Given the description of an element on the screen output the (x, y) to click on. 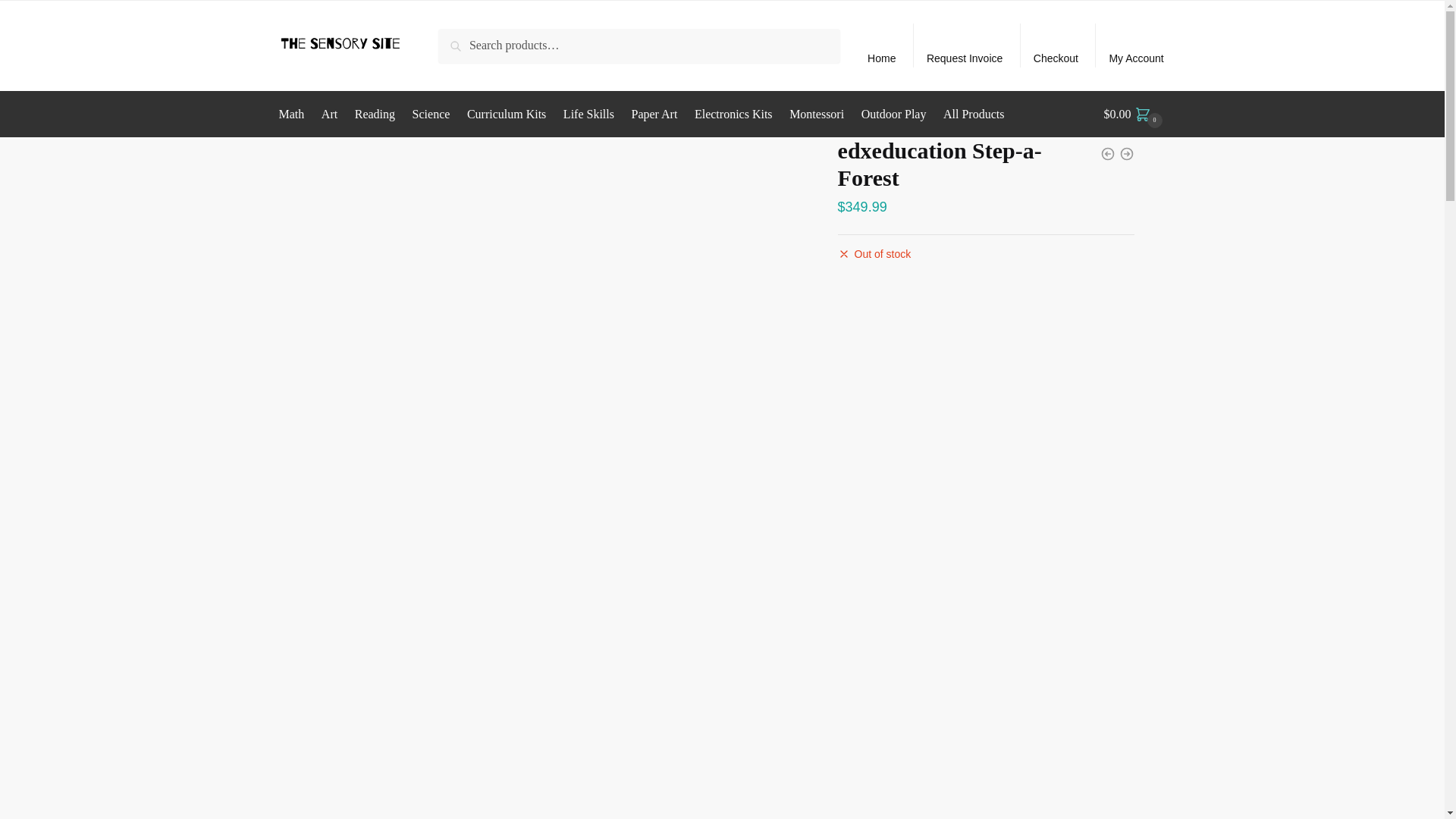
Montessori (816, 114)
Reading (374, 114)
Home (882, 45)
Life Skills (588, 114)
Science (431, 114)
Checkout (1056, 45)
My Account (1136, 45)
Electronics Kits (732, 114)
Request Invoice (964, 45)
Curriculum Kits (506, 114)
